Given the description of an element on the screen output the (x, y) to click on. 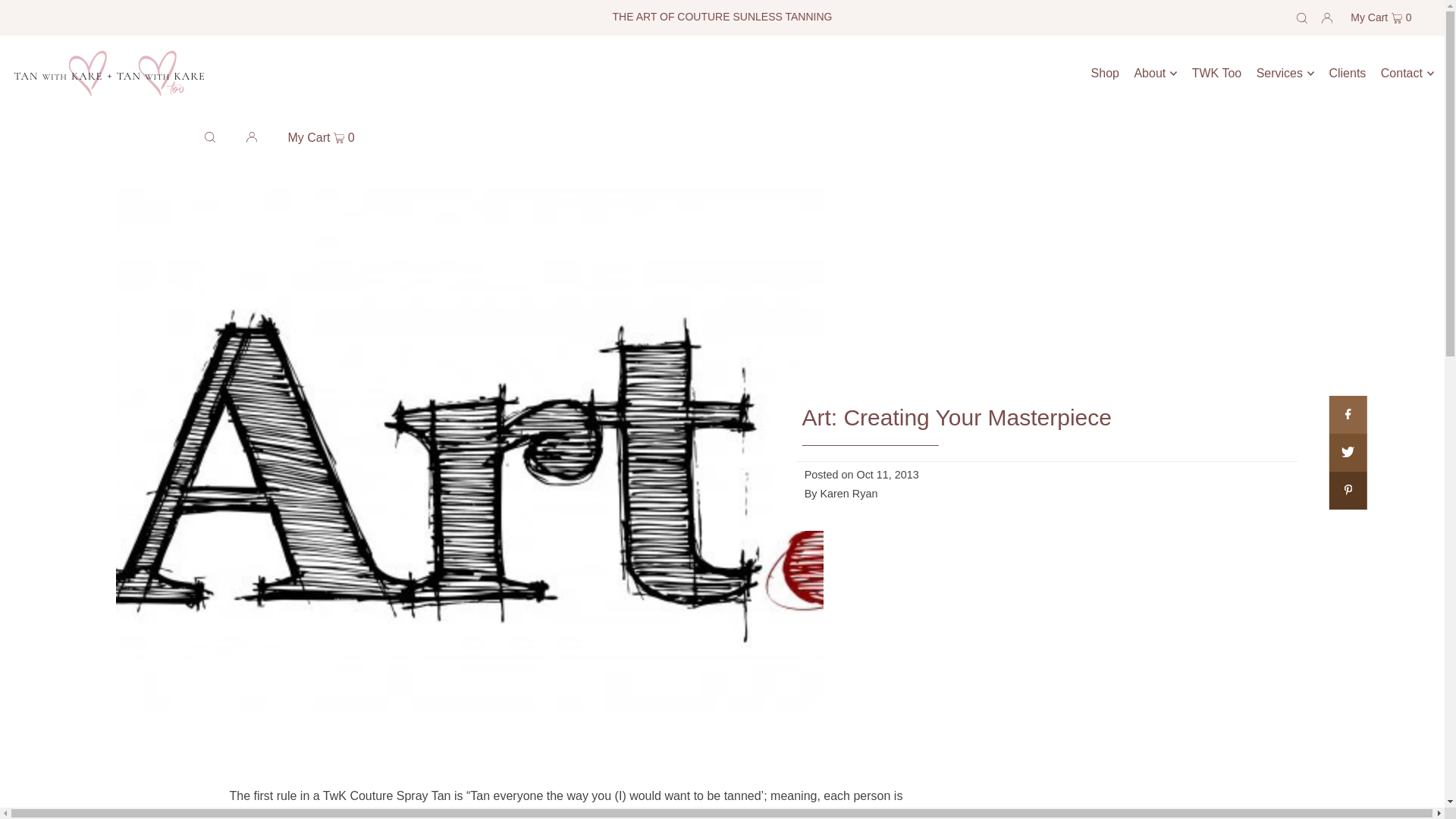
Share on Pinterest (1348, 490)
TWK Too (1216, 73)
Clients (1346, 73)
Share on Twitter (1348, 452)
Share on Facebook (1348, 414)
About (1155, 73)
Contact (1407, 73)
Services (1285, 73)
